Given the description of an element on the screen output the (x, y) to click on. 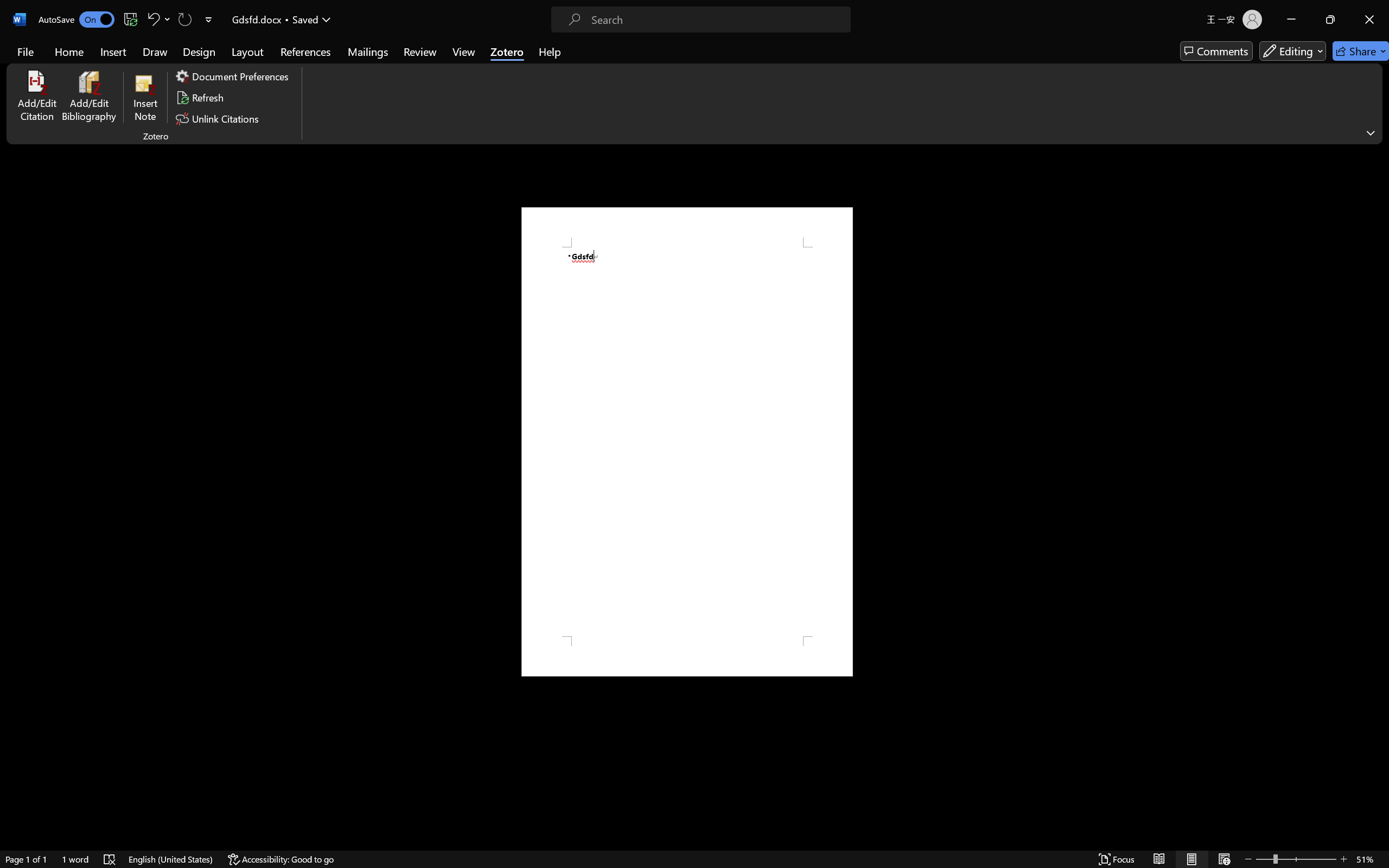
Animation Duration (1238, 61)
Animation Pane (1138, 47)
Bounce (640, 60)
Effect Options (1044, 62)
Spell Check No Errors (52, 837)
Zoom 152% (1364, 837)
Slide (430, 199)
Class: MsoCommandBar (694, 836)
Trigger (1128, 62)
